Given the description of an element on the screen output the (x, y) to click on. 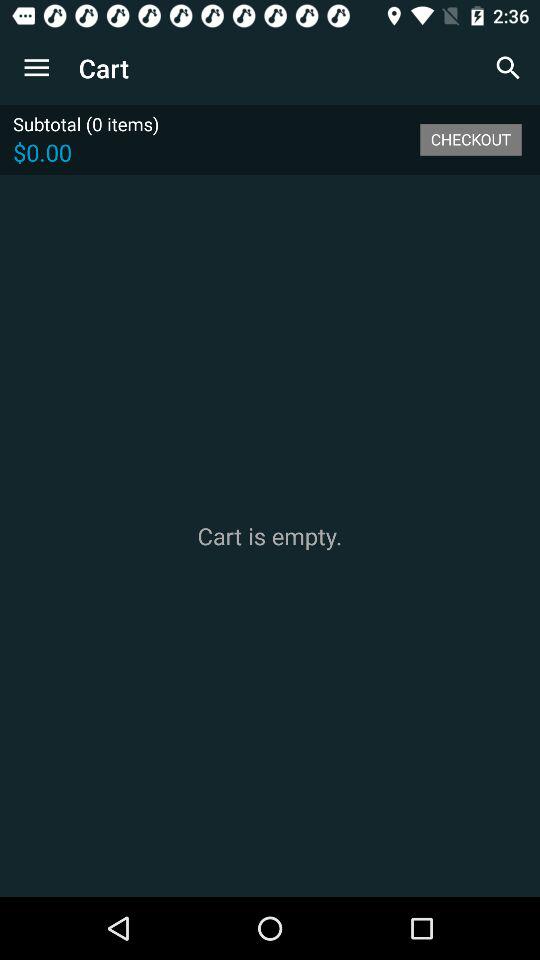
launch item next to subtotal (0 items) (470, 139)
